Given the description of an element on the screen output the (x, y) to click on. 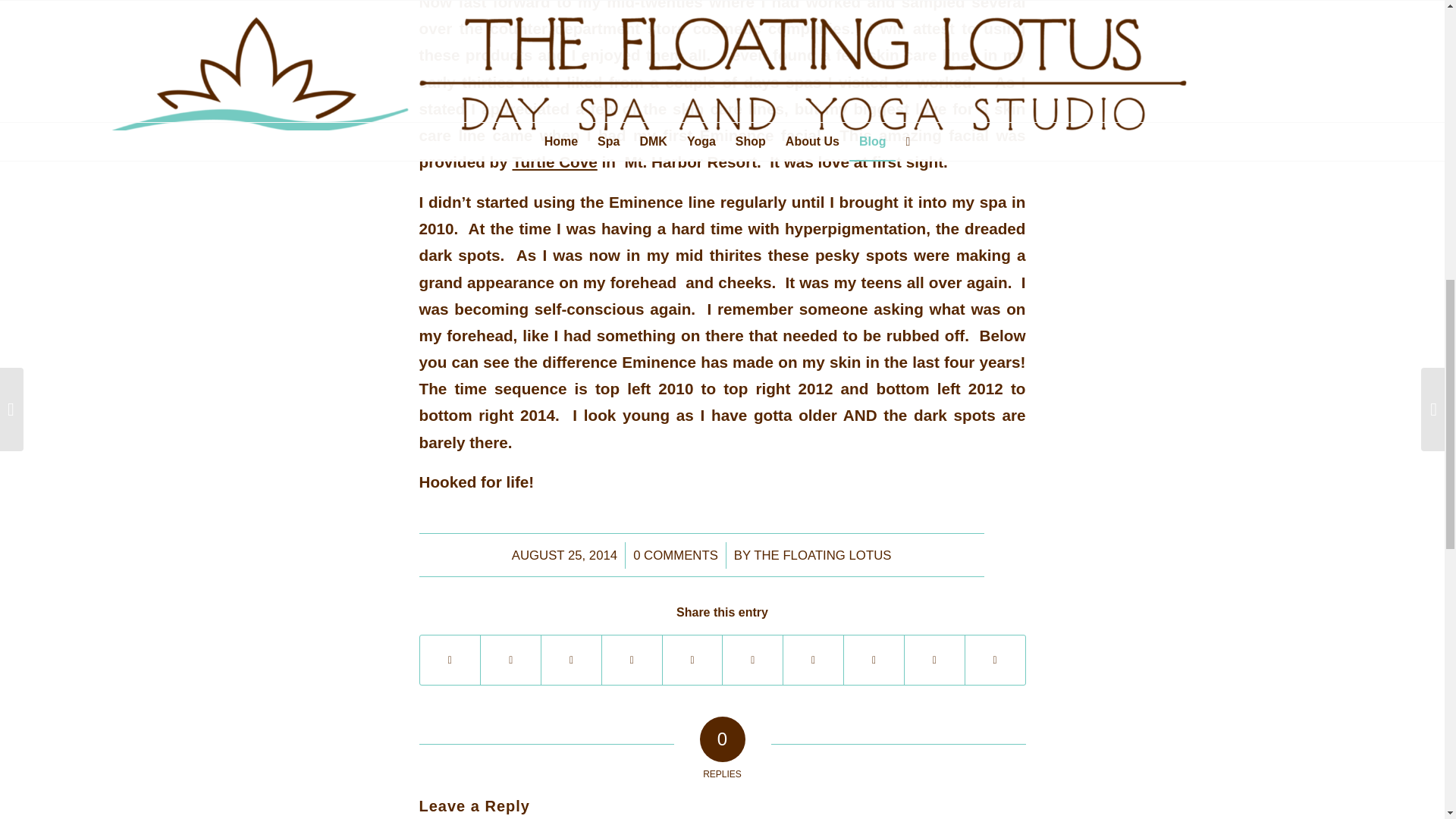
Posts by The Floating Lotus (822, 554)
0 COMMENTS (675, 554)
THE FLOATING LOTUS (822, 554)
Turtle Cove (554, 161)
